Given the description of an element on the screen output the (x, y) to click on. 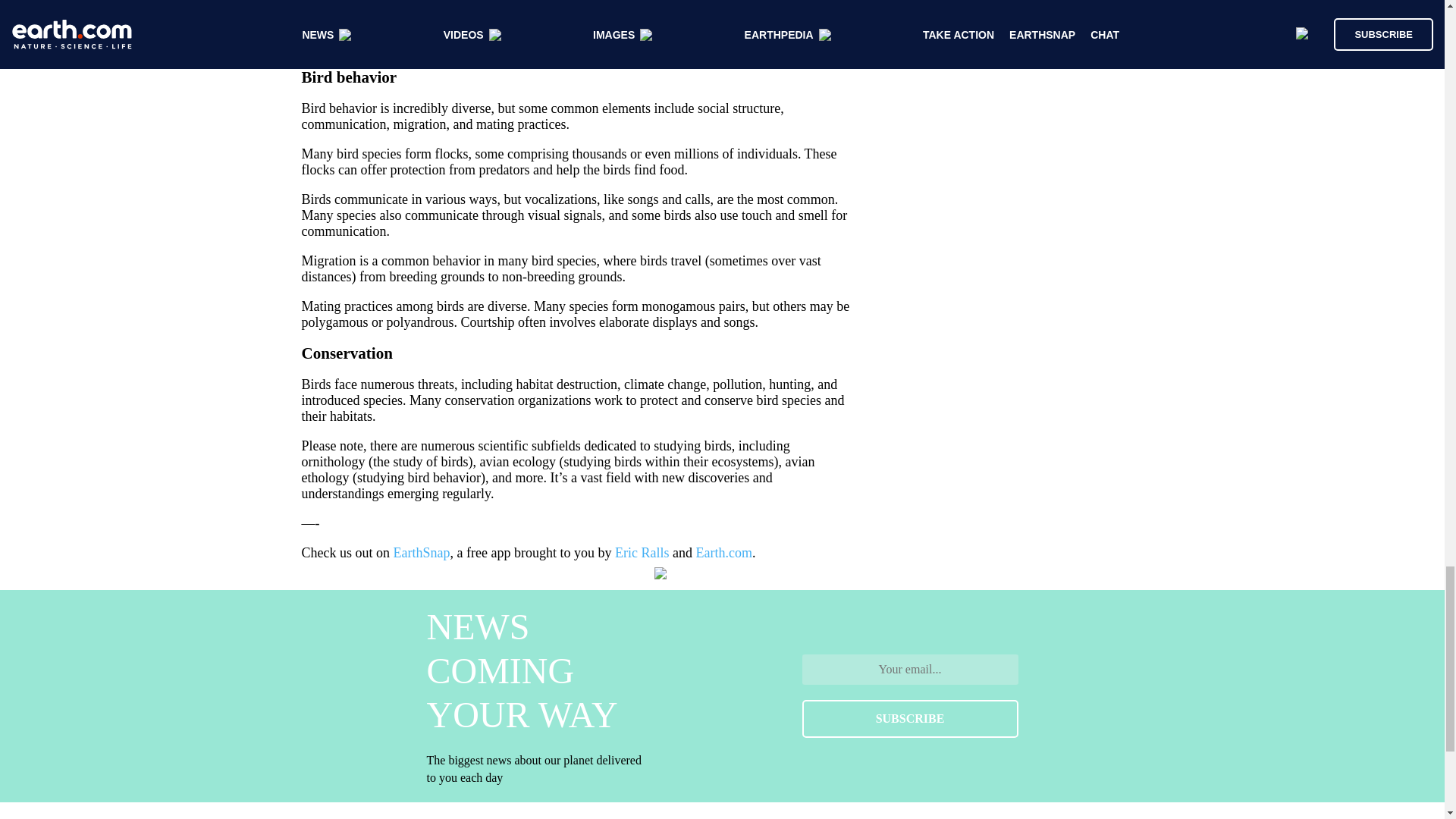
Eric Ralls (641, 552)
EarthSnap (421, 552)
Earth.com (723, 552)
